Given the description of an element on the screen output the (x, y) to click on. 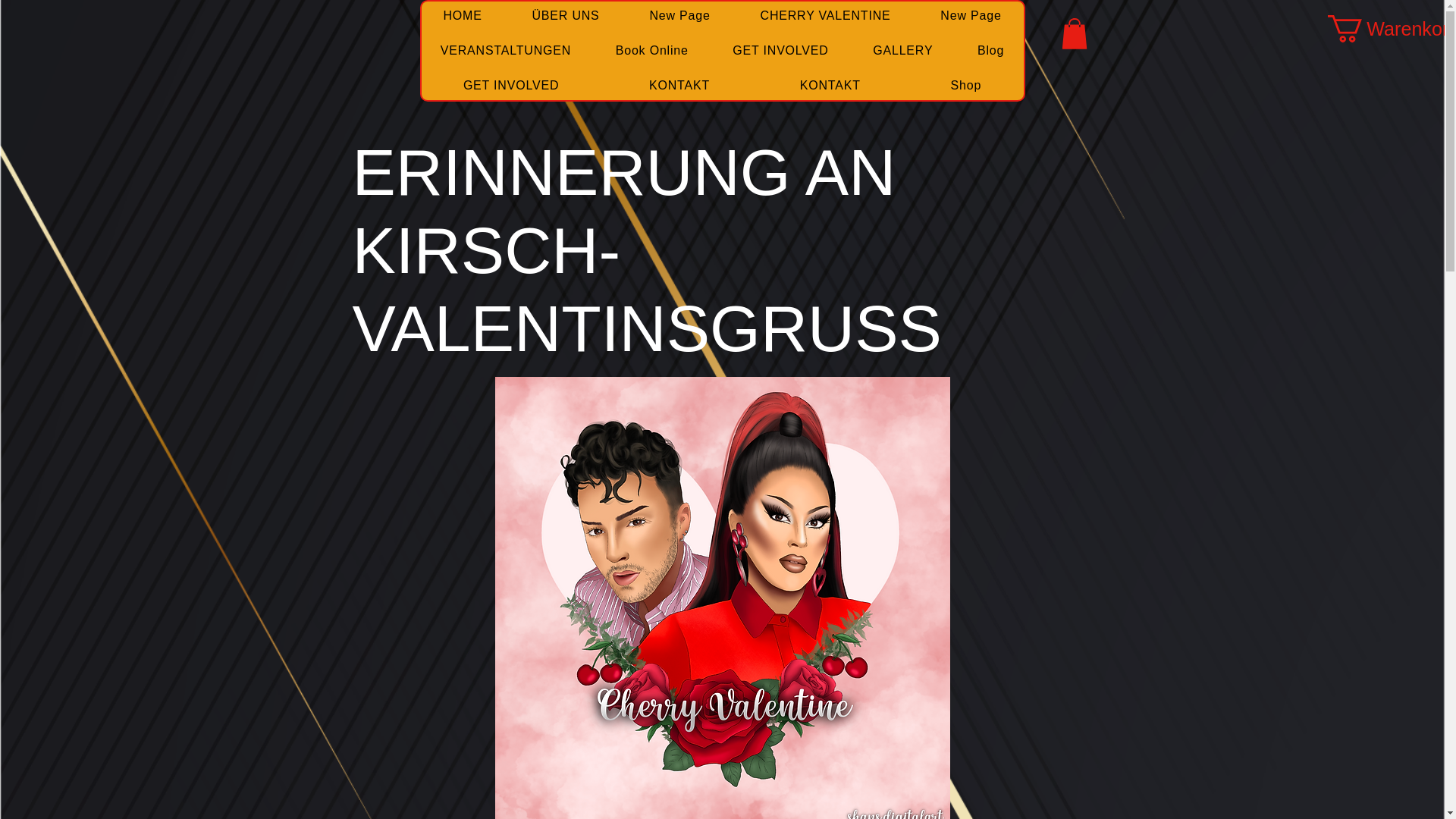
New Page (970, 15)
KONTAKT (829, 85)
GALLERY (902, 50)
Blog (990, 50)
New Page (679, 15)
Warenkorb (1378, 28)
GET INVOLVED (780, 50)
Warenkorb (1378, 28)
KONTAKT (679, 85)
Book Online (651, 50)
